Given the description of an element on the screen output the (x, y) to click on. 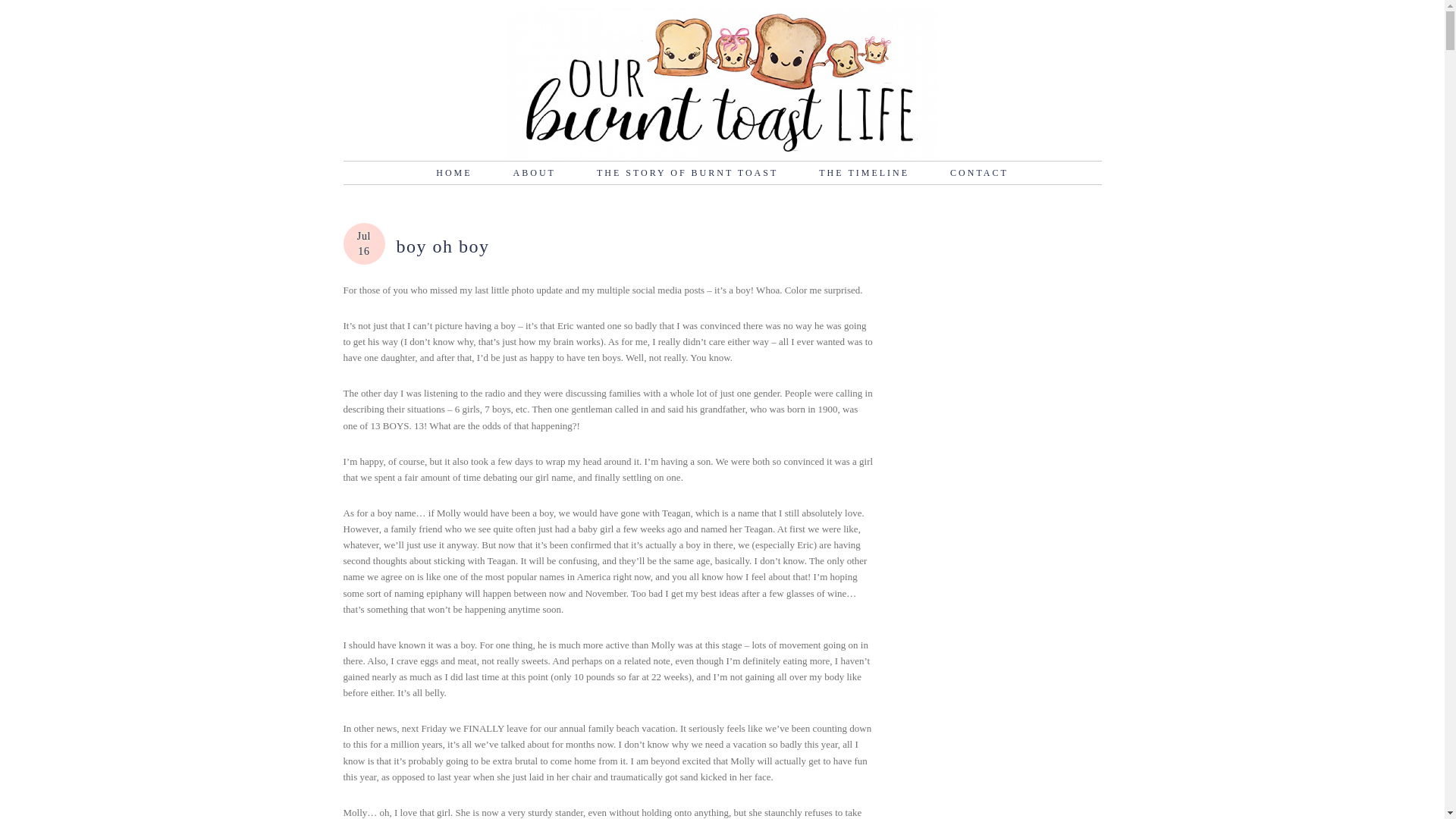
ABOUT (534, 172)
HOME (453, 172)
THE STORY OF BURNT TOAST (687, 172)
THE TIMELINE (863, 172)
BURNT TOAST LIFE (721, 83)
CONTACT (978, 172)
boy oh boy (442, 246)
